Given the description of an element on the screen output the (x, y) to click on. 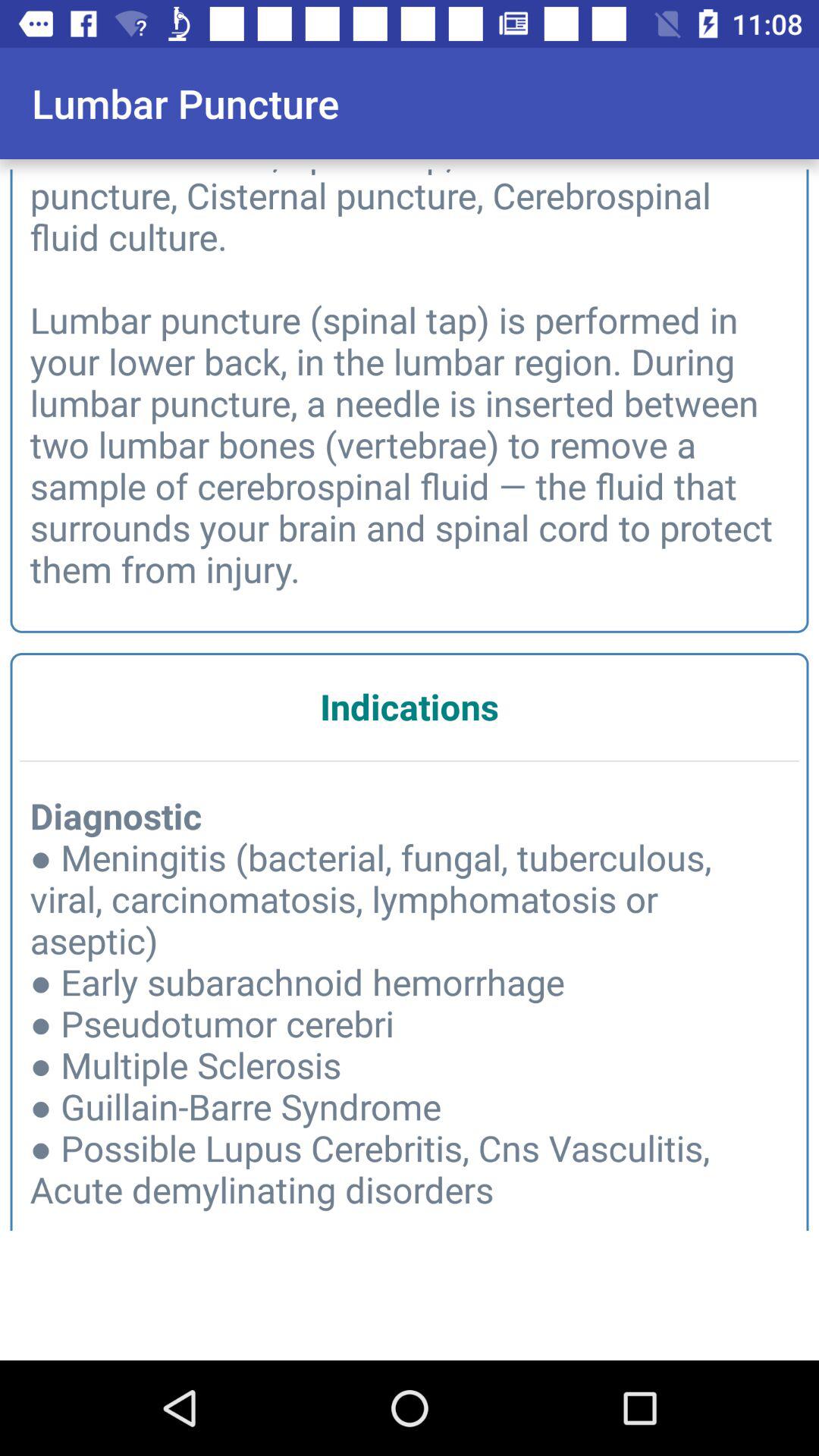
scroll to the diagnostic meningitis bacterial item (409, 1016)
